Given the description of an element on the screen output the (x, y) to click on. 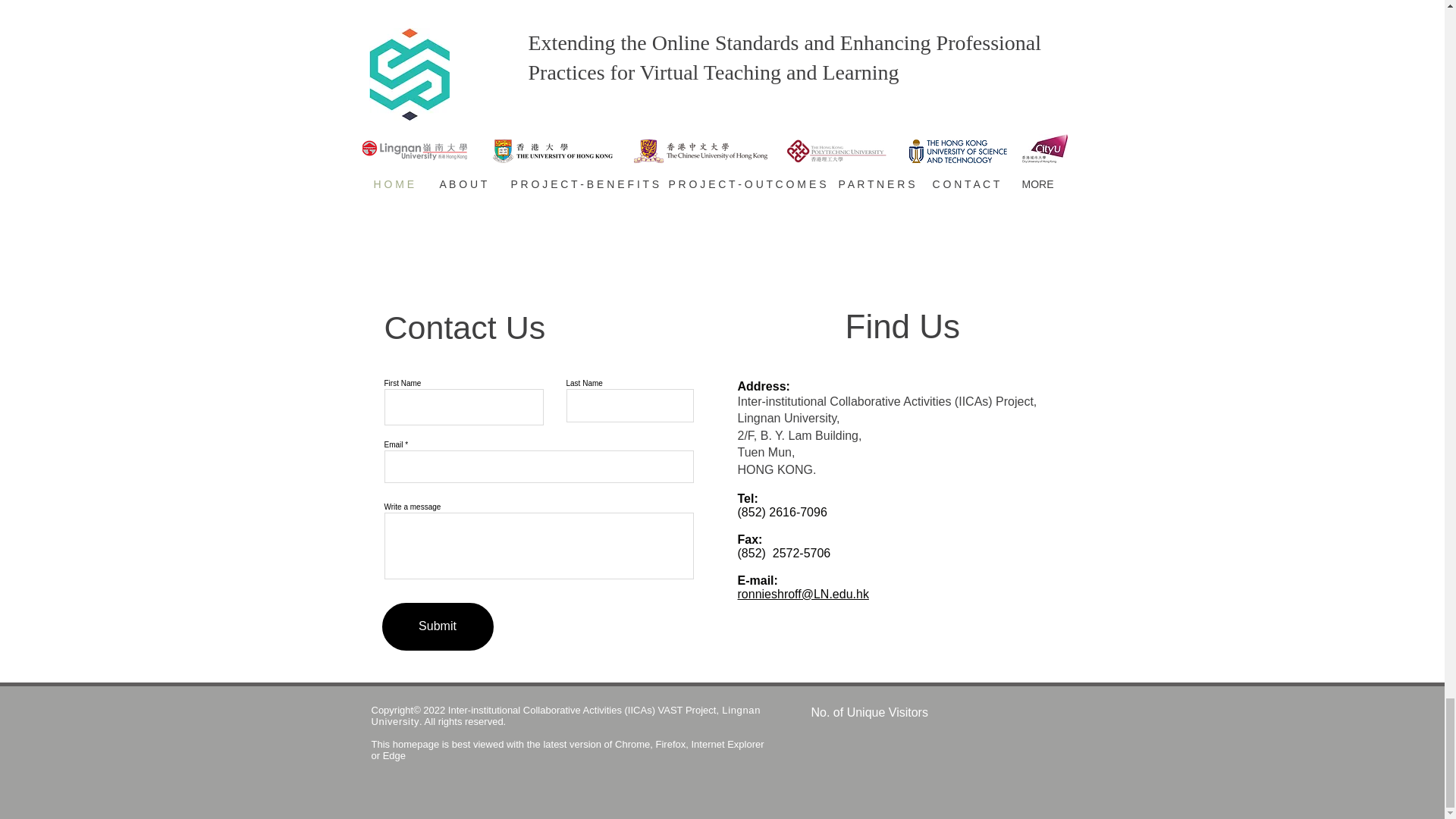
Submit (437, 626)
